Given the description of an element on the screen output the (x, y) to click on. 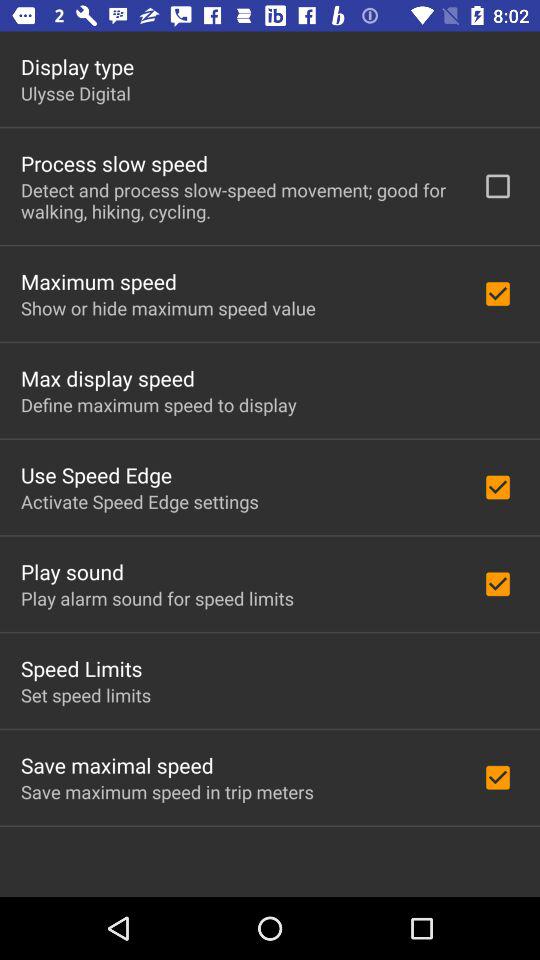
click icon below set speed limits (117, 765)
